Given the description of an element on the screen output the (x, y) to click on. 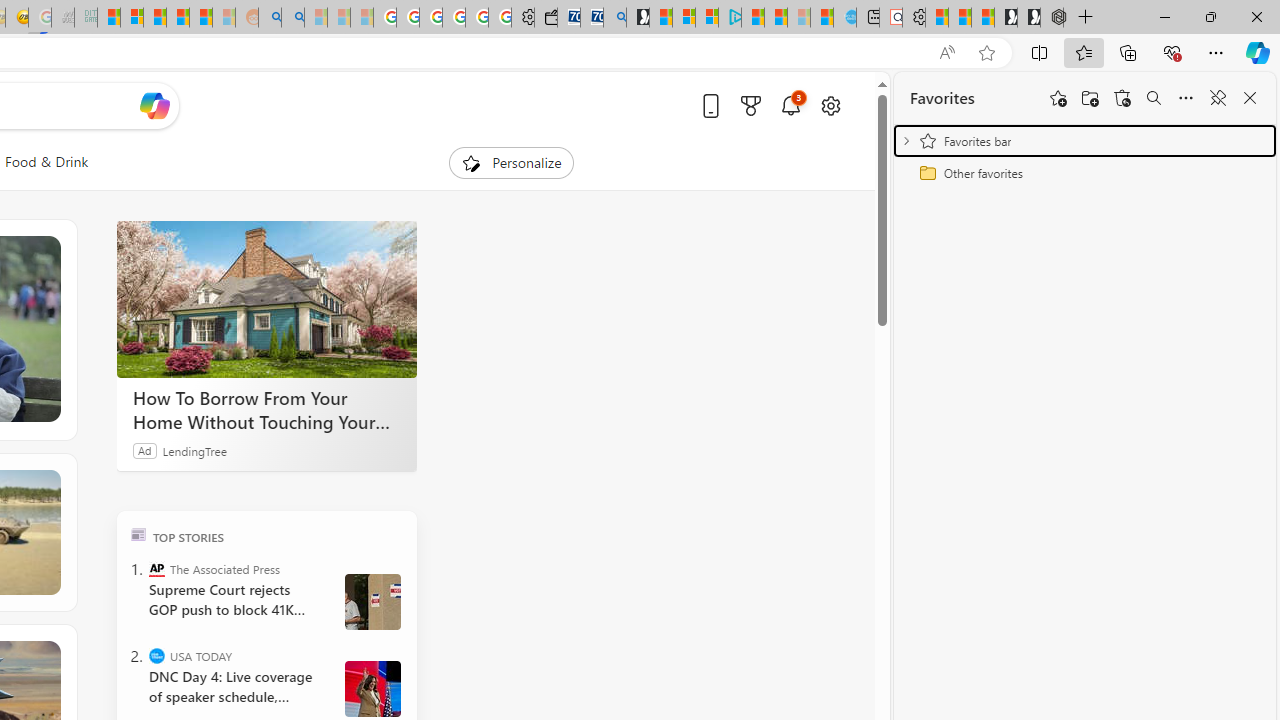
Nordace - Nordace Siena Is Not An Ordinary Backpack (1051, 17)
Wallet (545, 17)
Add folder (1089, 98)
Close favorites (1250, 98)
Navy Quest (63, 17)
